Given the description of an element on the screen output the (x, y) to click on. 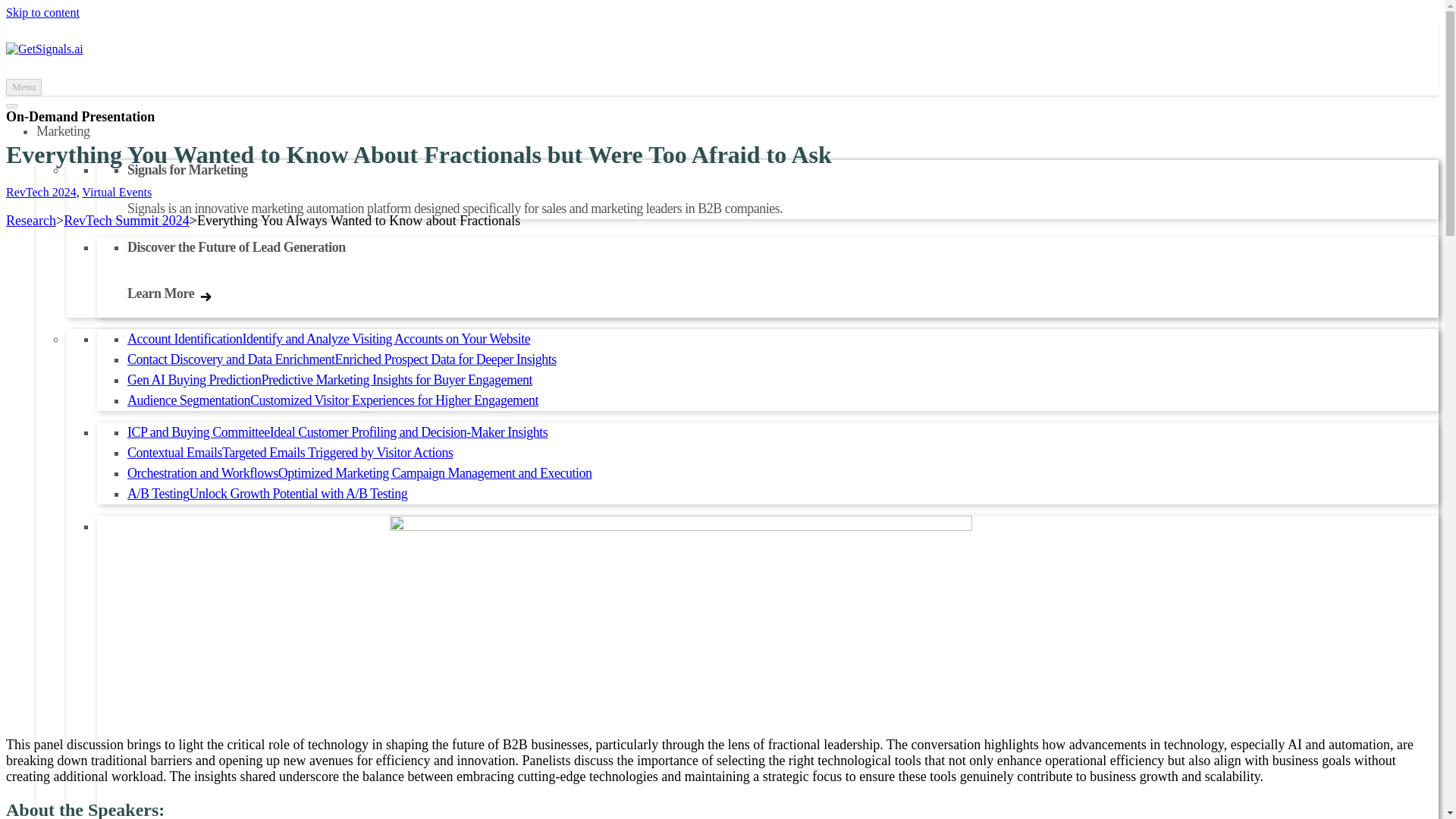
Menu (23, 86)
RevTech 2024 (41, 192)
Virtual Events (116, 192)
Skip to content (42, 11)
Marketing (62, 130)
